Given the description of an element on the screen output the (x, y) to click on. 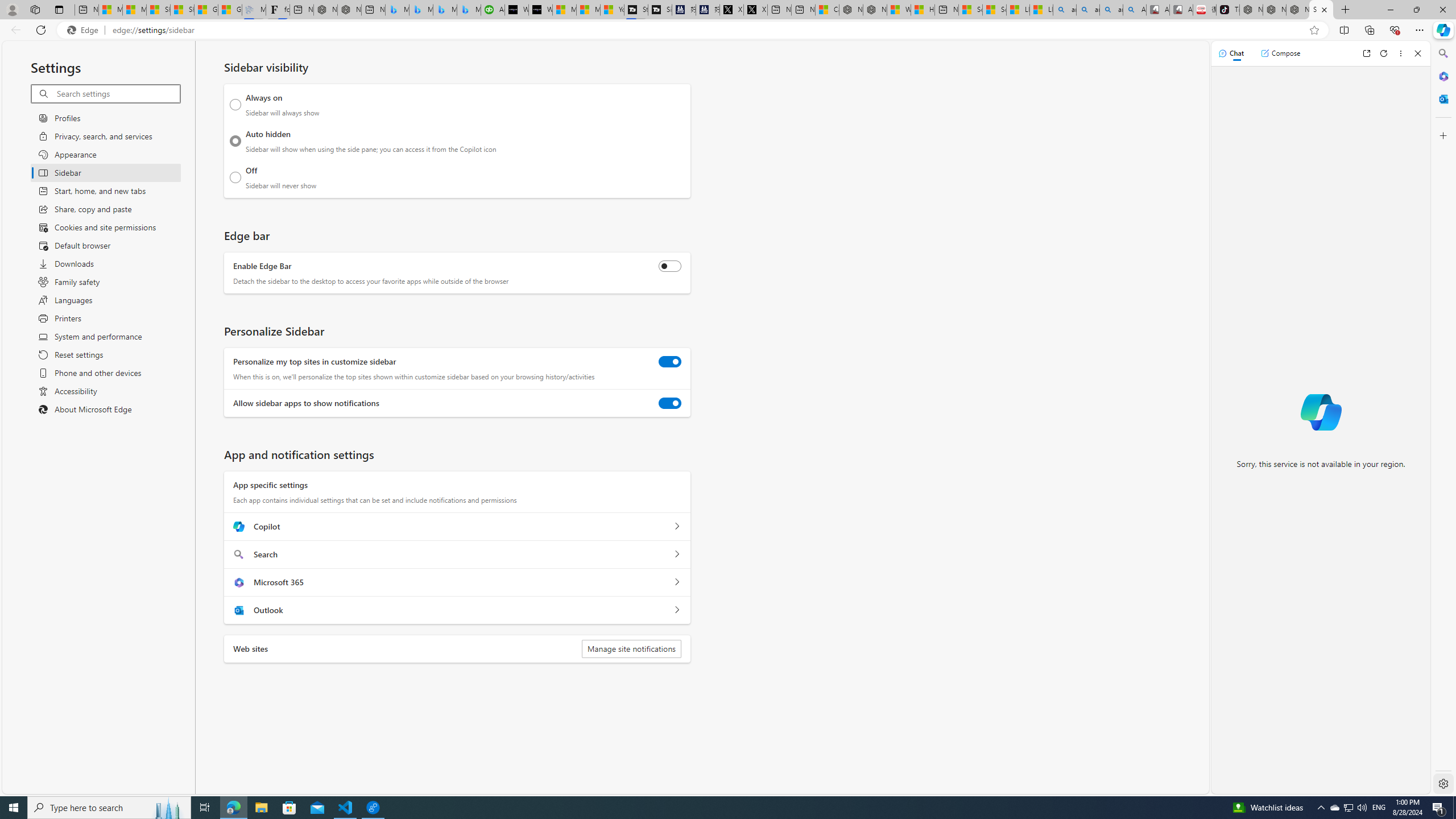
Personalize my top sites in customize sidebar (669, 361)
Copilot (676, 526)
Chat (1231, 52)
Customize (1442, 135)
Search settings (117, 93)
Off Sidebar will never show (235, 177)
Compose (1280, 52)
TikTok (1227, 9)
